Given the description of an element on the screen output the (x, y) to click on. 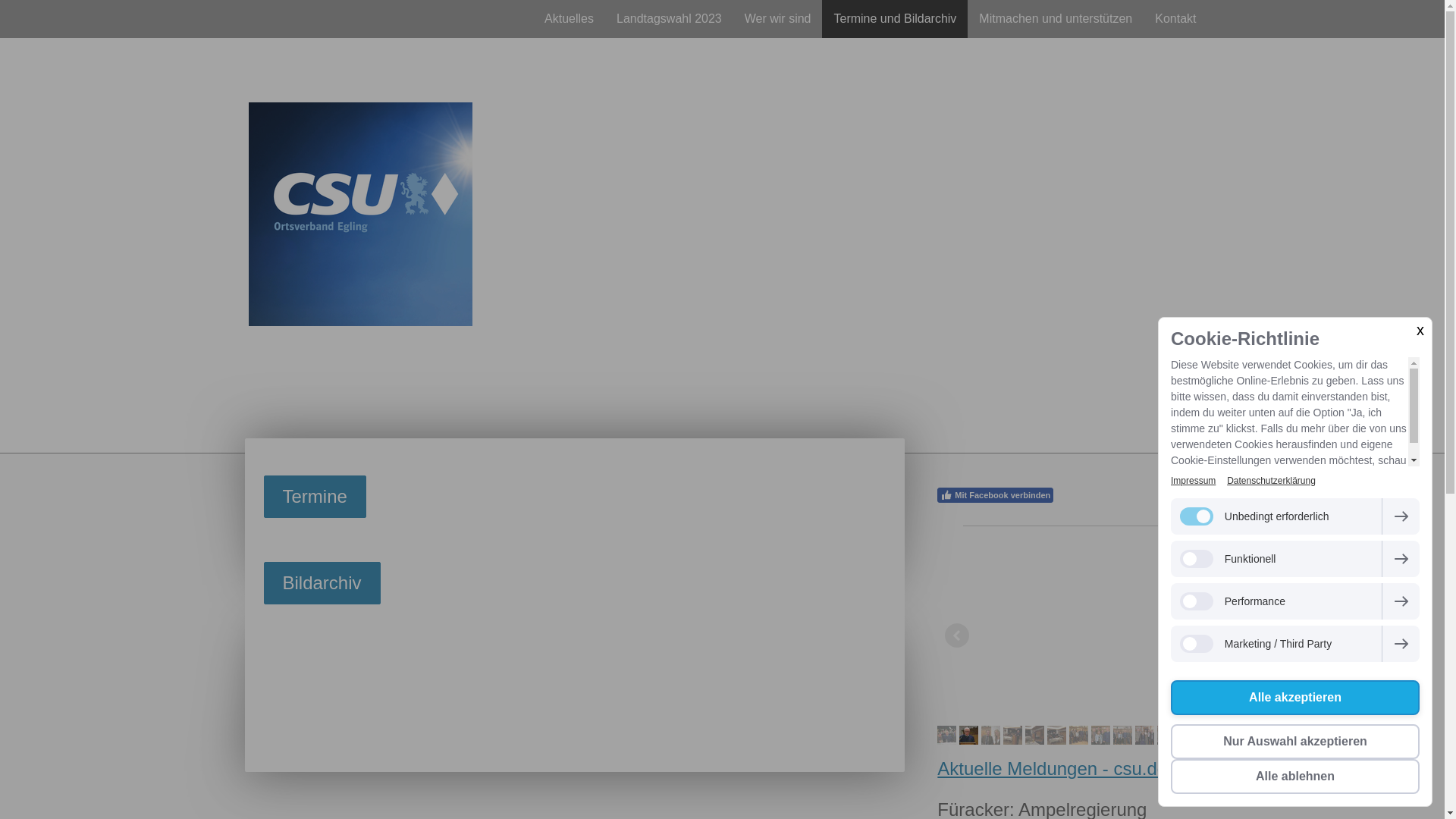
Herzlich Willkommen bei der CSU Egling Element type: text (726, 360)
Nur Auswahl akzeptieren Element type: text (1294, 741)
Landtagswahl 2023 Element type: text (669, 18)
Impressum Element type: text (1192, 480)
Alle ablehnen Element type: text (1294, 776)
Aktuelles Element type: text (569, 18)
Kontakt Element type: text (1175, 18)
Mit Facebook verbinden Element type: text (995, 494)
Bildarchiv Element type: text (321, 582)
Termine und Bildarchiv Element type: text (894, 18)
Termine Element type: text (314, 496)
Aktuelle Meldungen - csu.de Element type: text (1052, 768)
Alle akzeptieren Element type: text (1294, 697)
Wer wir sind Element type: text (777, 18)
